Given the description of an element on the screen output the (x, y) to click on. 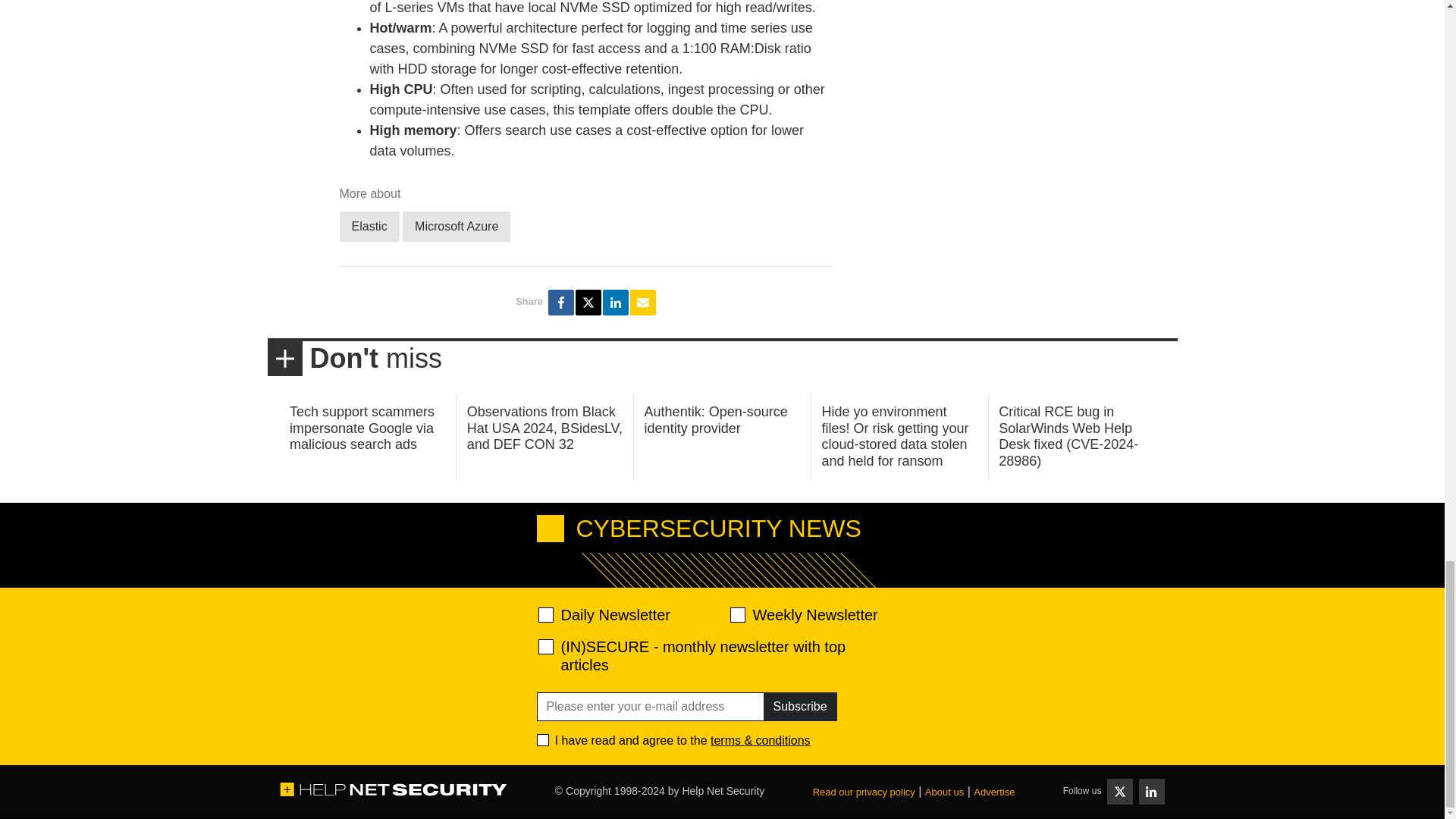
Elastic (368, 225)
Microsoft Azure (457, 225)
1 (542, 739)
520ac2f639 (545, 614)
28abe5d9ef (545, 646)
d2d471aafa (736, 614)
